Given the description of an element on the screen output the (x, y) to click on. 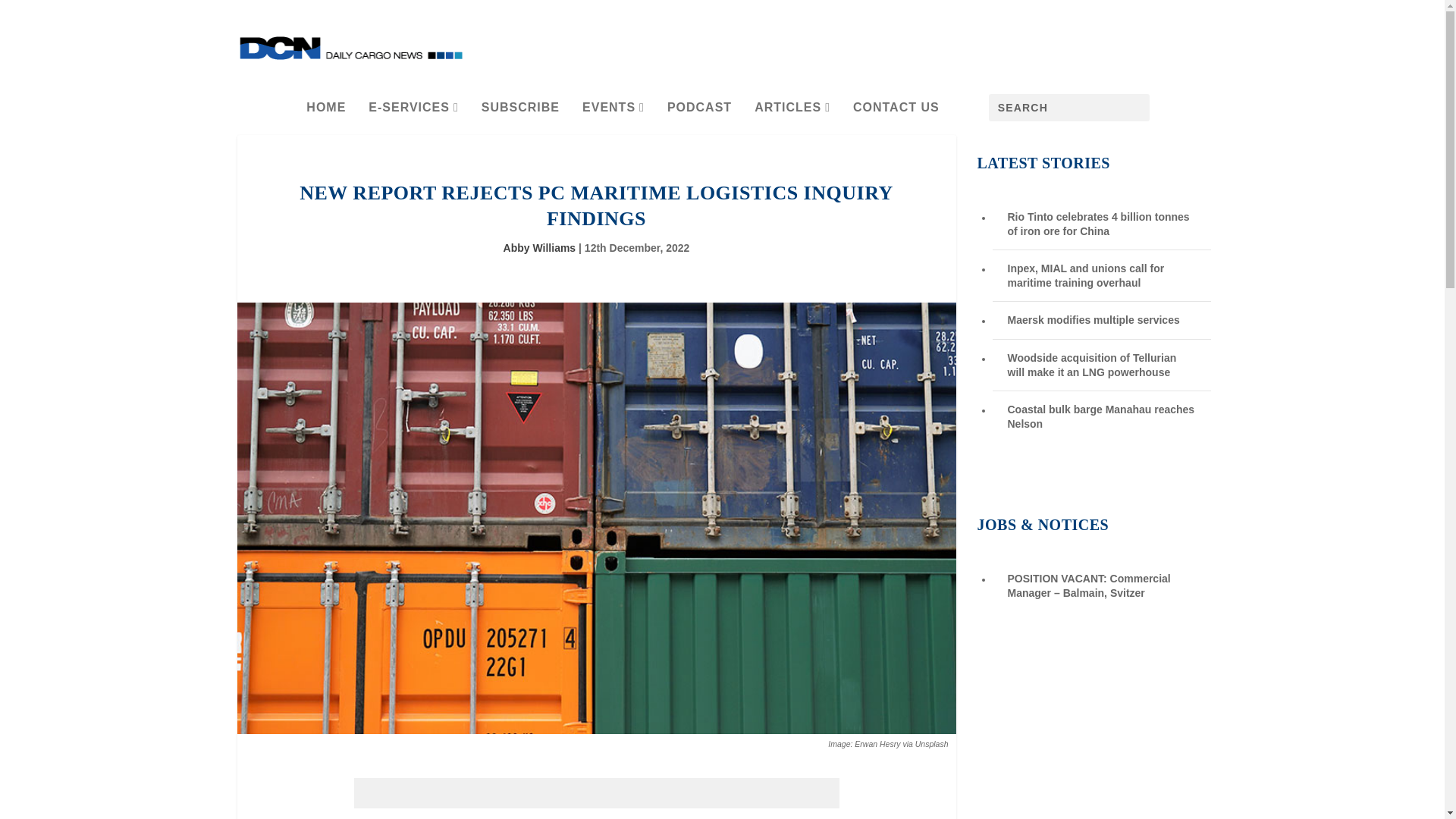
Posts by Abby Williams (539, 247)
ARTICLES (791, 114)
SUBSCRIBE (520, 114)
E-SERVICES (413, 114)
PODCAST (699, 114)
HOME (325, 114)
CONTACT US (896, 114)
Abby Williams (539, 247)
Search for: (1069, 107)
EVENTS (613, 114)
